Given the description of an element on the screen output the (x, y) to click on. 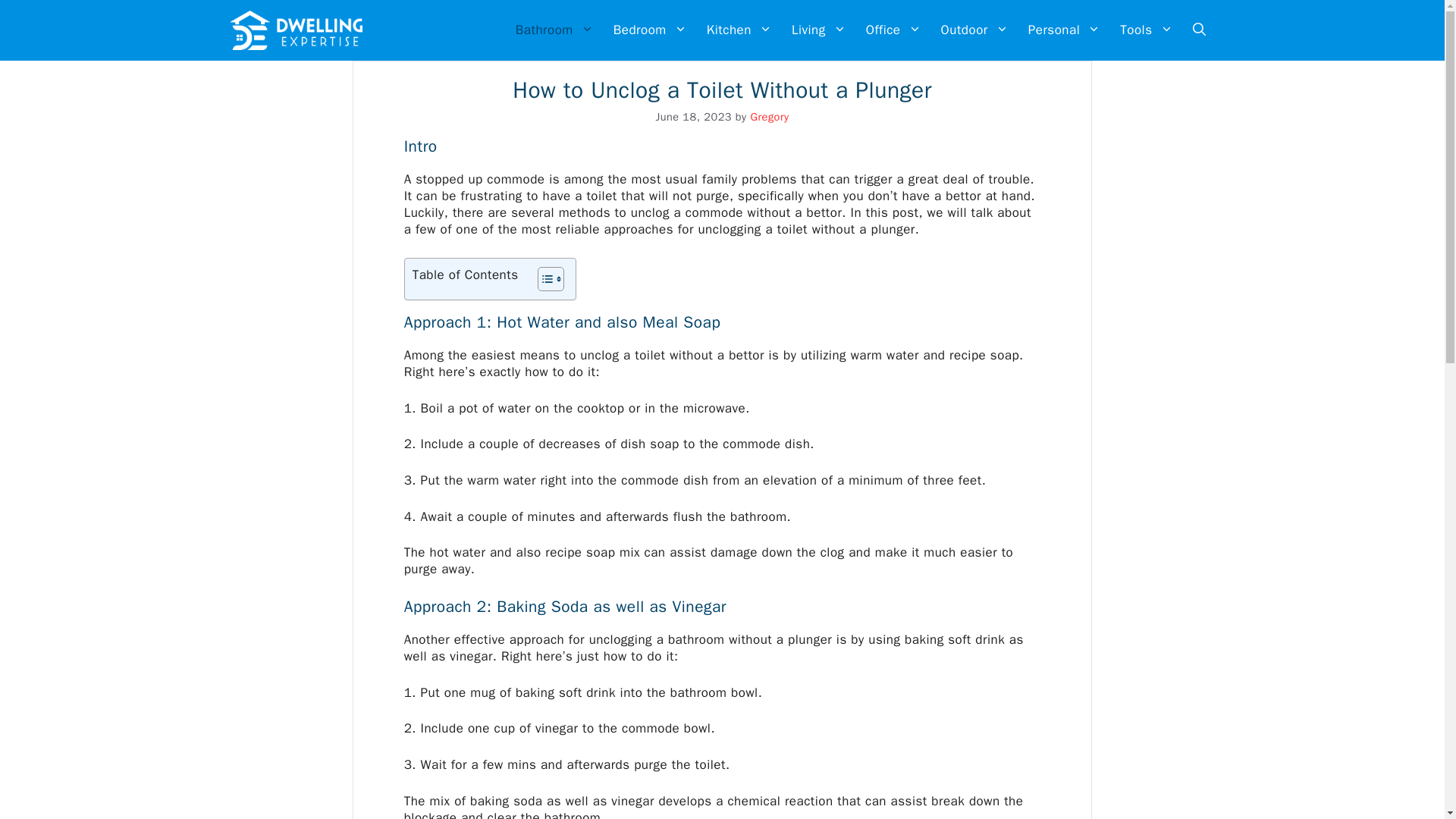
Bedroom (650, 30)
Living (818, 30)
Office (893, 30)
Outdoor (974, 30)
Kitchen (739, 30)
View all posts by Gregory (769, 116)
Bathroom (554, 30)
